Given the description of an element on the screen output the (x, y) to click on. 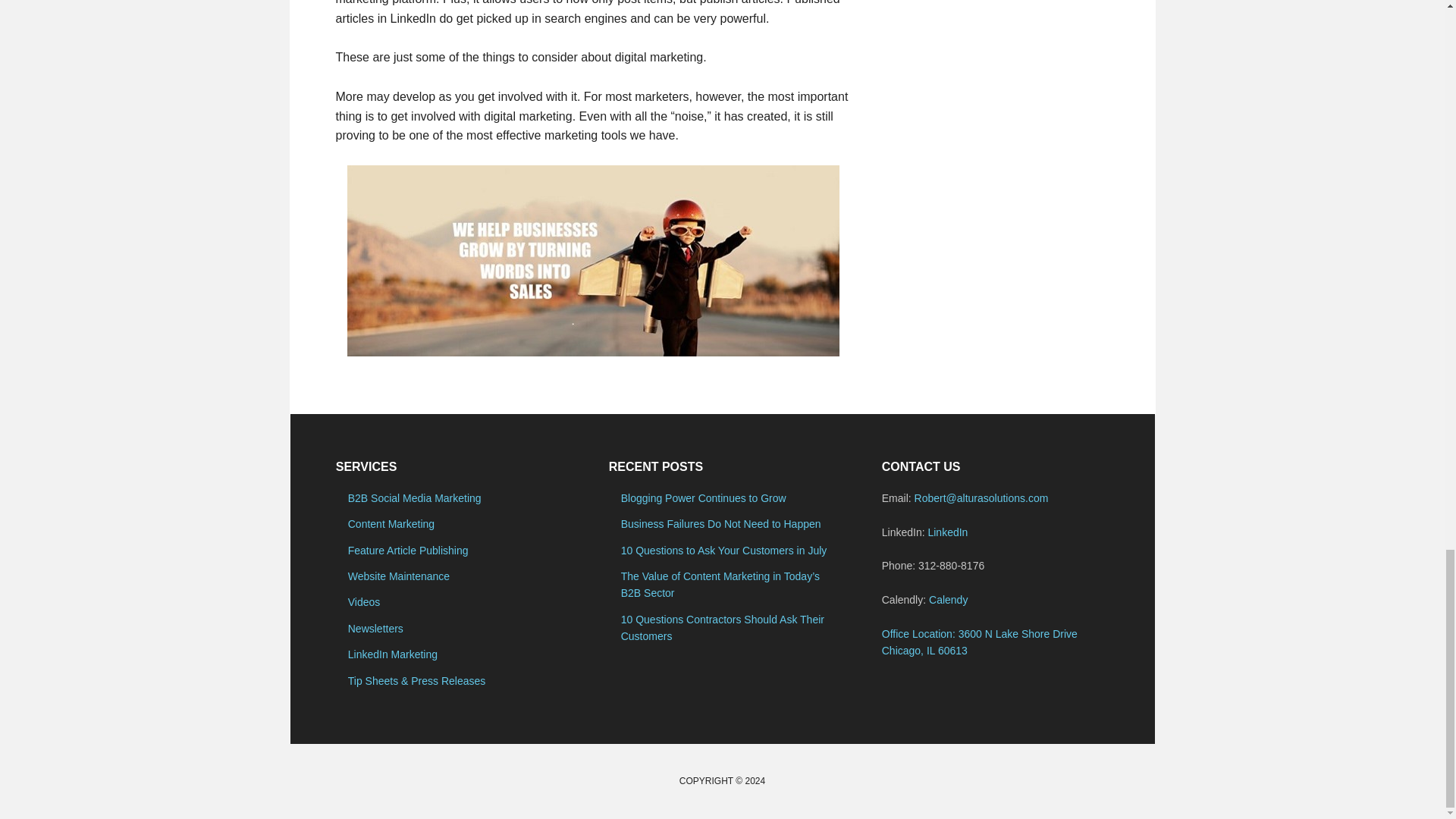
B2B Social Media Marketing (414, 498)
Content Marketing (390, 523)
Videos (363, 602)
Feature Article Publishing (407, 550)
LinkedIn Marketing (392, 654)
Website Maintenance (398, 576)
Newsletters (375, 628)
